Given the description of an element on the screen output the (x, y) to click on. 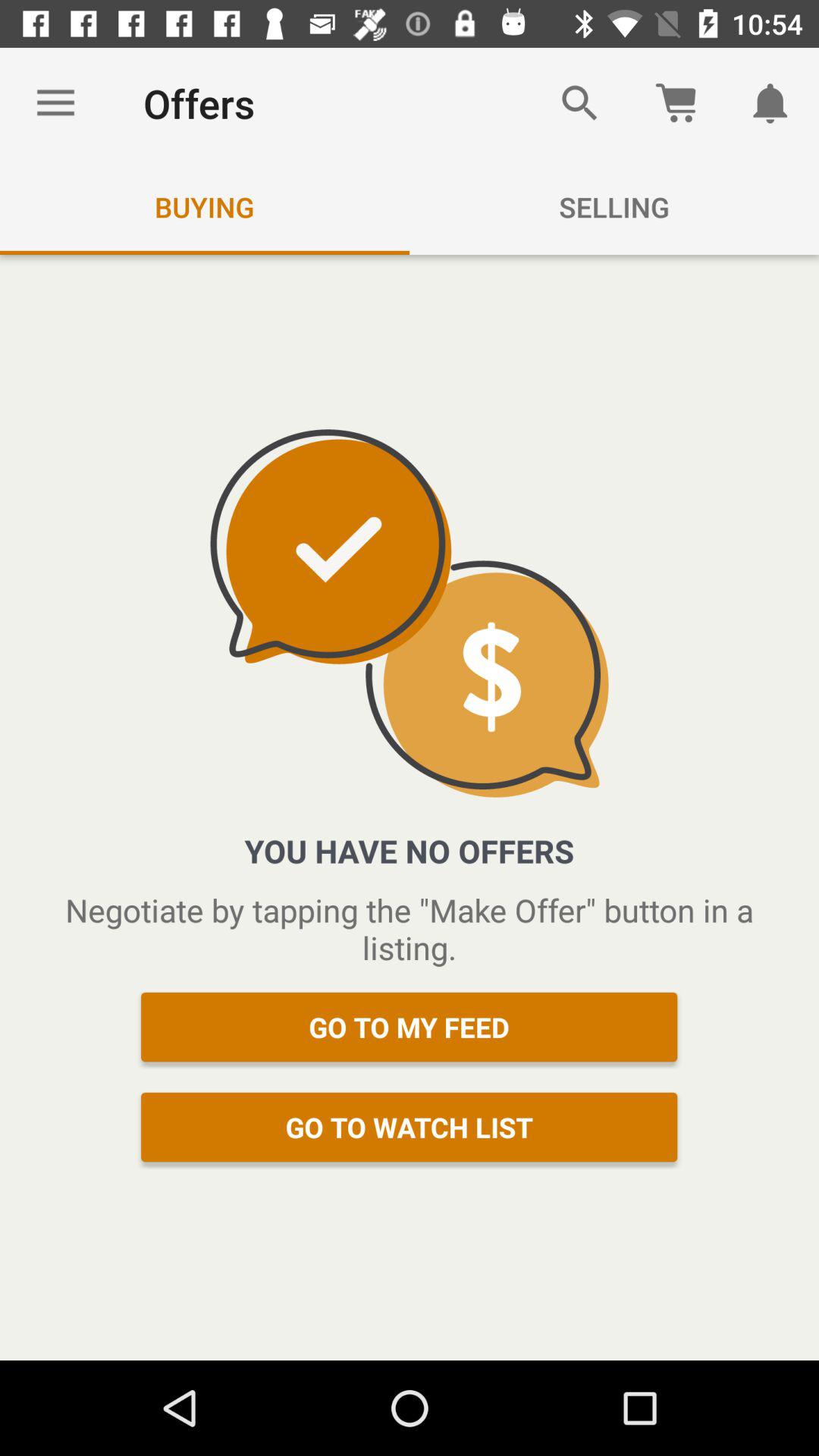
click the image above you have no offers (409, 613)
click on go to my feed button (409, 1026)
click on bell icon (771, 103)
select the search icon on a page (580, 103)
